Given the description of an element on the screen output the (x, y) to click on. 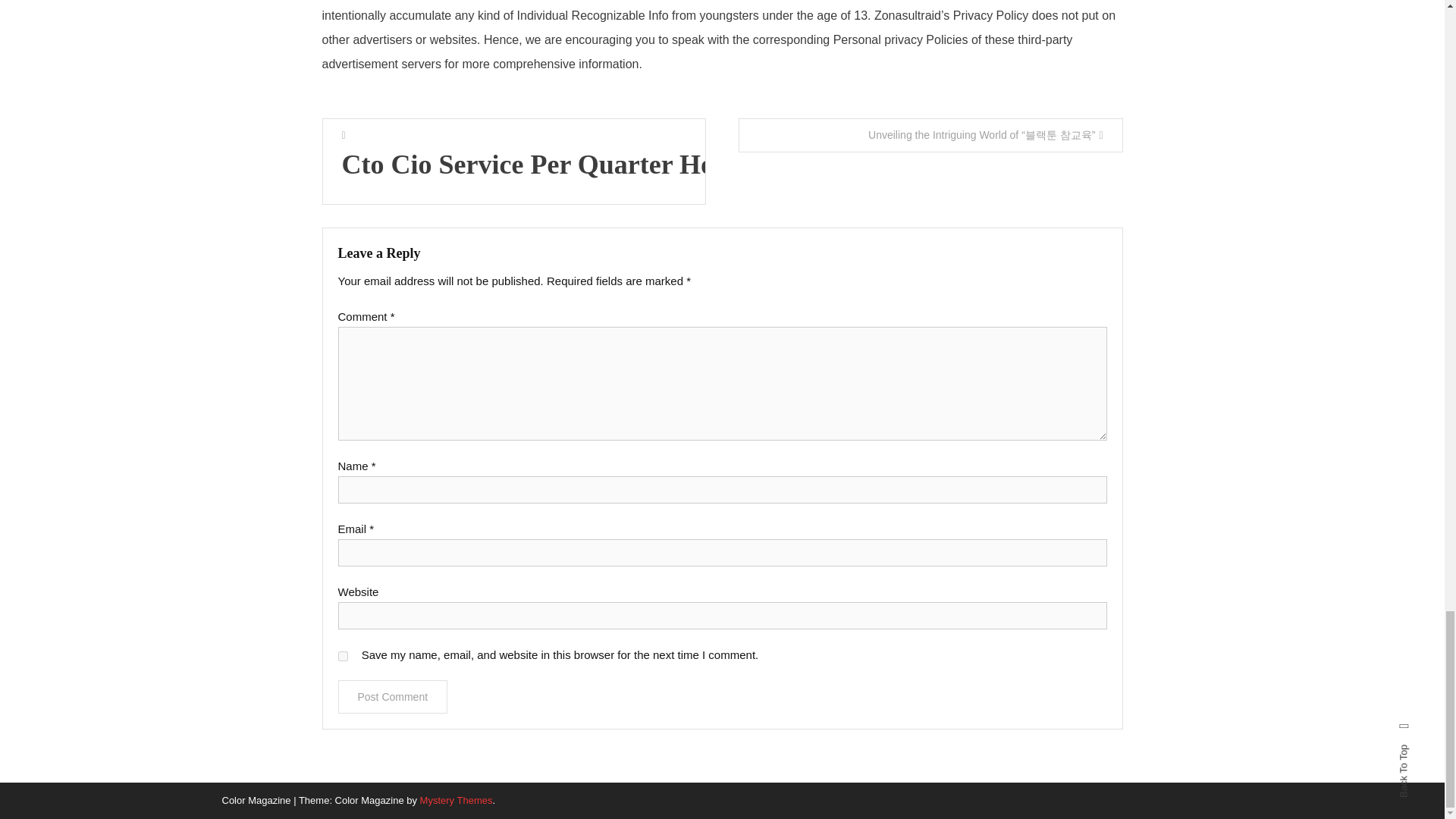
Post Comment (392, 696)
yes (342, 655)
